Given the description of an element on the screen output the (x, y) to click on. 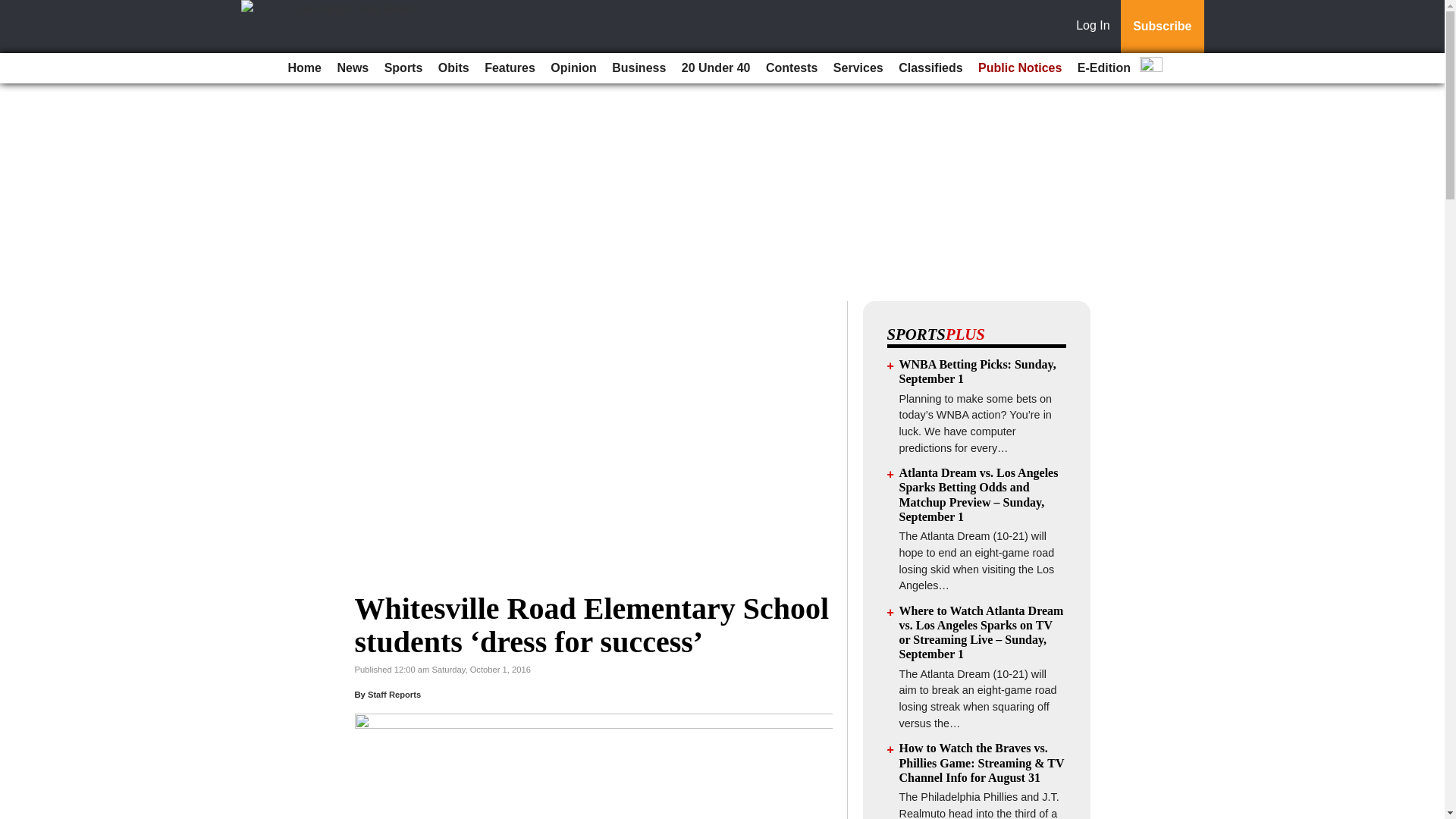
20 Under 40 (716, 68)
Staff Reports (394, 694)
Features (510, 68)
Services (858, 68)
Sports (403, 68)
Public Notices (1019, 68)
Contests (792, 68)
WNBA Betting Picks: Sunday, September 1 (978, 370)
Opinion (573, 68)
Subscribe (1162, 26)
